Given the description of an element on the screen output the (x, y) to click on. 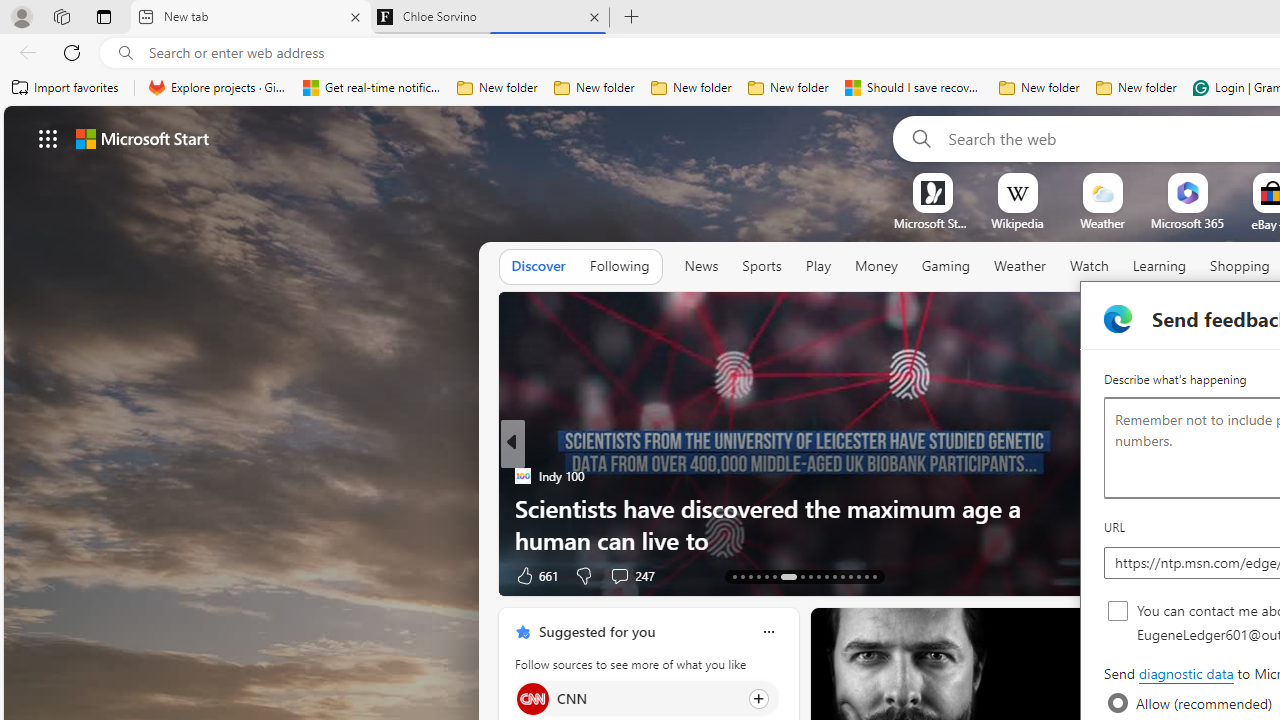
AutomationID: tab-17 (765, 576)
Click to follow source CNN (646, 698)
Allow (recommended) (1117, 703)
AutomationID: tab-20 (801, 576)
Search icon (125, 53)
Weather (1019, 267)
AutomationID: tab-15 (750, 576)
Indy 100 (522, 475)
Import favorites (65, 88)
Gaming (945, 265)
